Given the description of an element on the screen output the (x, y) to click on. 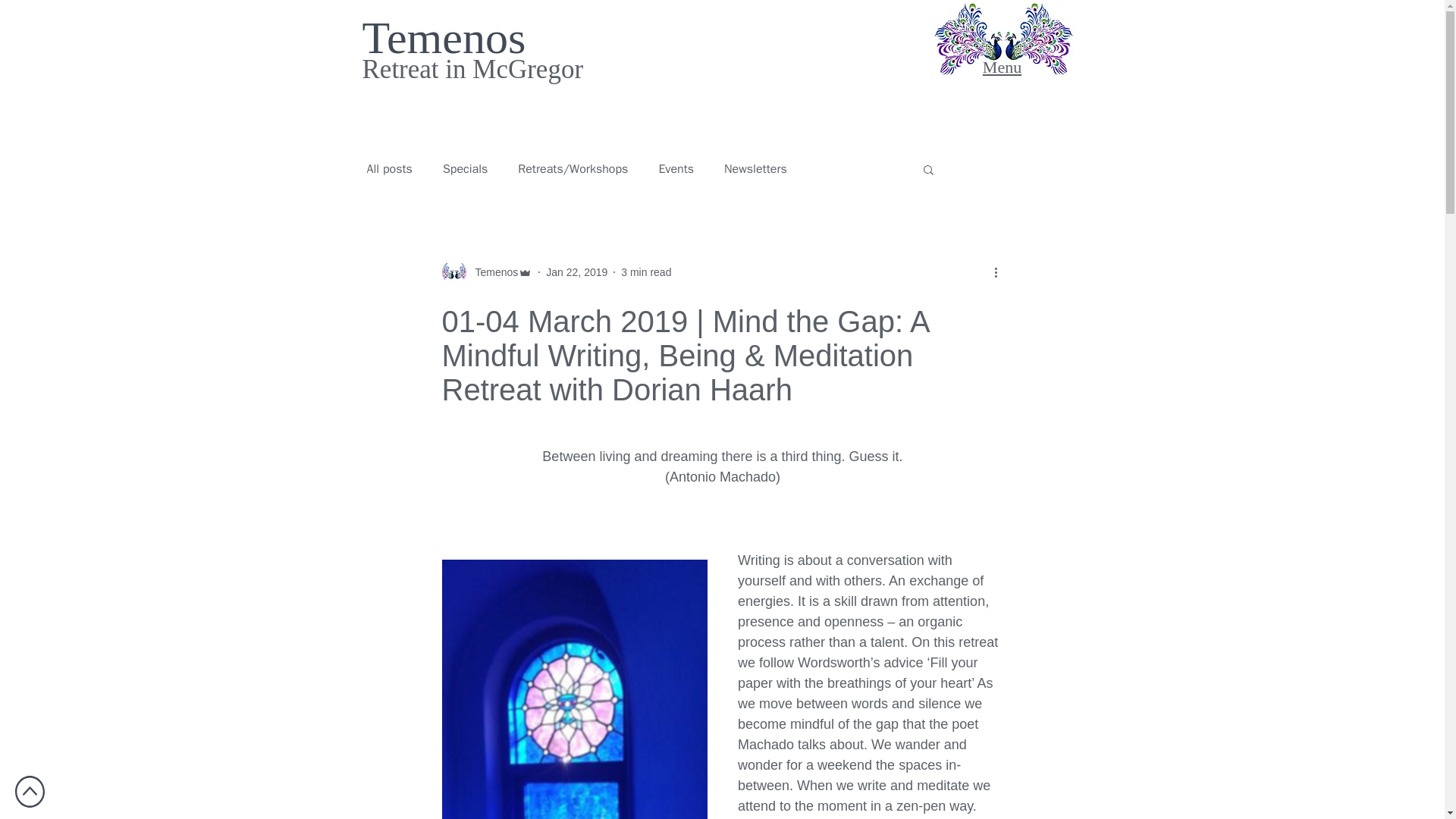
Jan 22, 2019 (576, 272)
Events (676, 169)
3 min read (646, 272)
Specials (464, 169)
Menu (1002, 66)
Temenos (443, 37)
Temenos (491, 272)
Newsletters (755, 169)
All posts (389, 169)
